Given the description of an element on the screen output the (x, y) to click on. 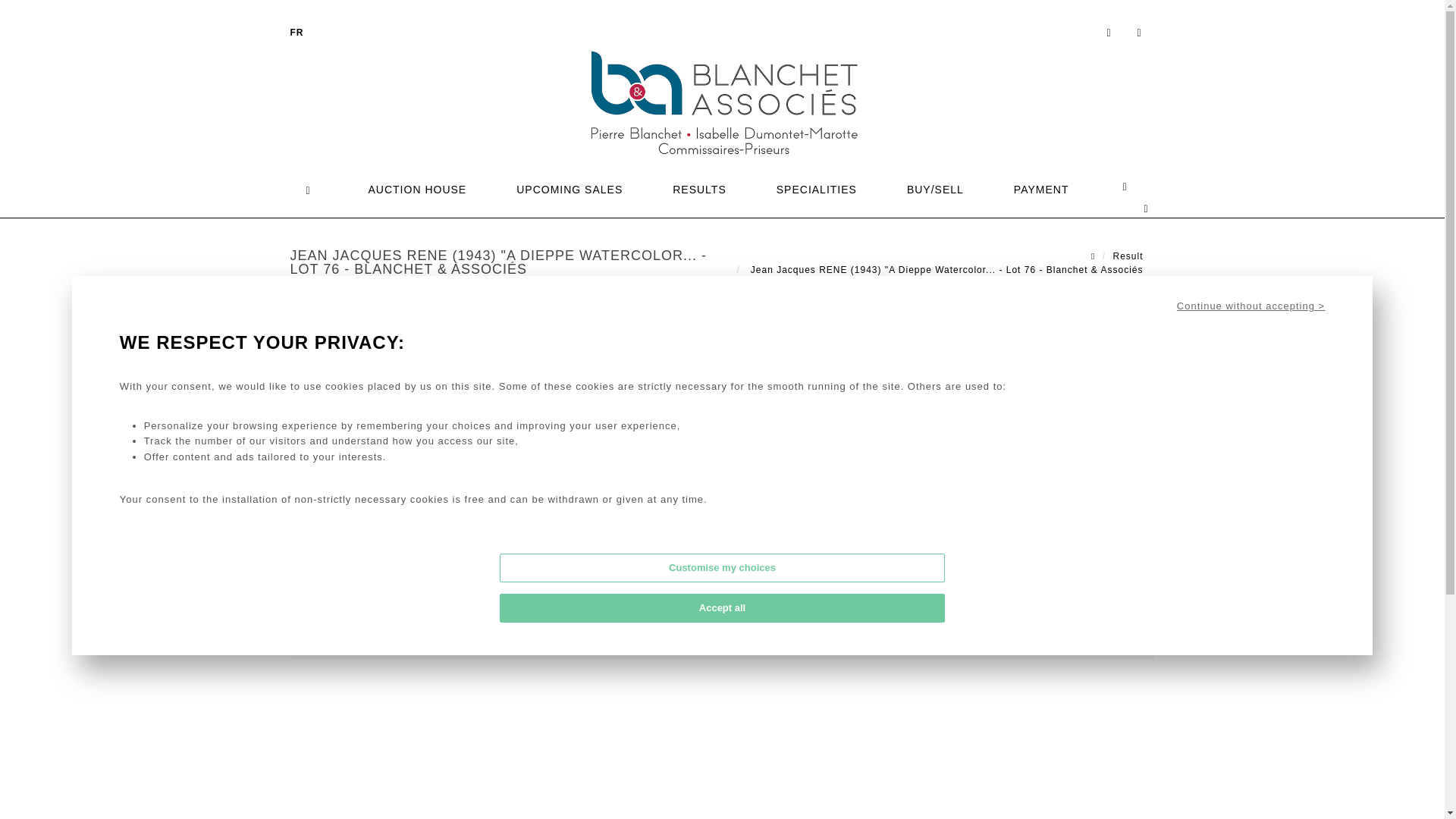
Result (1127, 255)
RESULTS (699, 186)
RETURN TO CATALOGUE (931, 622)
UPCOMING SALES (569, 186)
AUCTION HOUSE (417, 186)
SALES CONDITIONS (931, 599)
Go home (308, 394)
SPECIALITIES (816, 186)
PAYMENT (1041, 186)
SALE INFORMATION (931, 577)
